Given the description of an element on the screen output the (x, y) to click on. 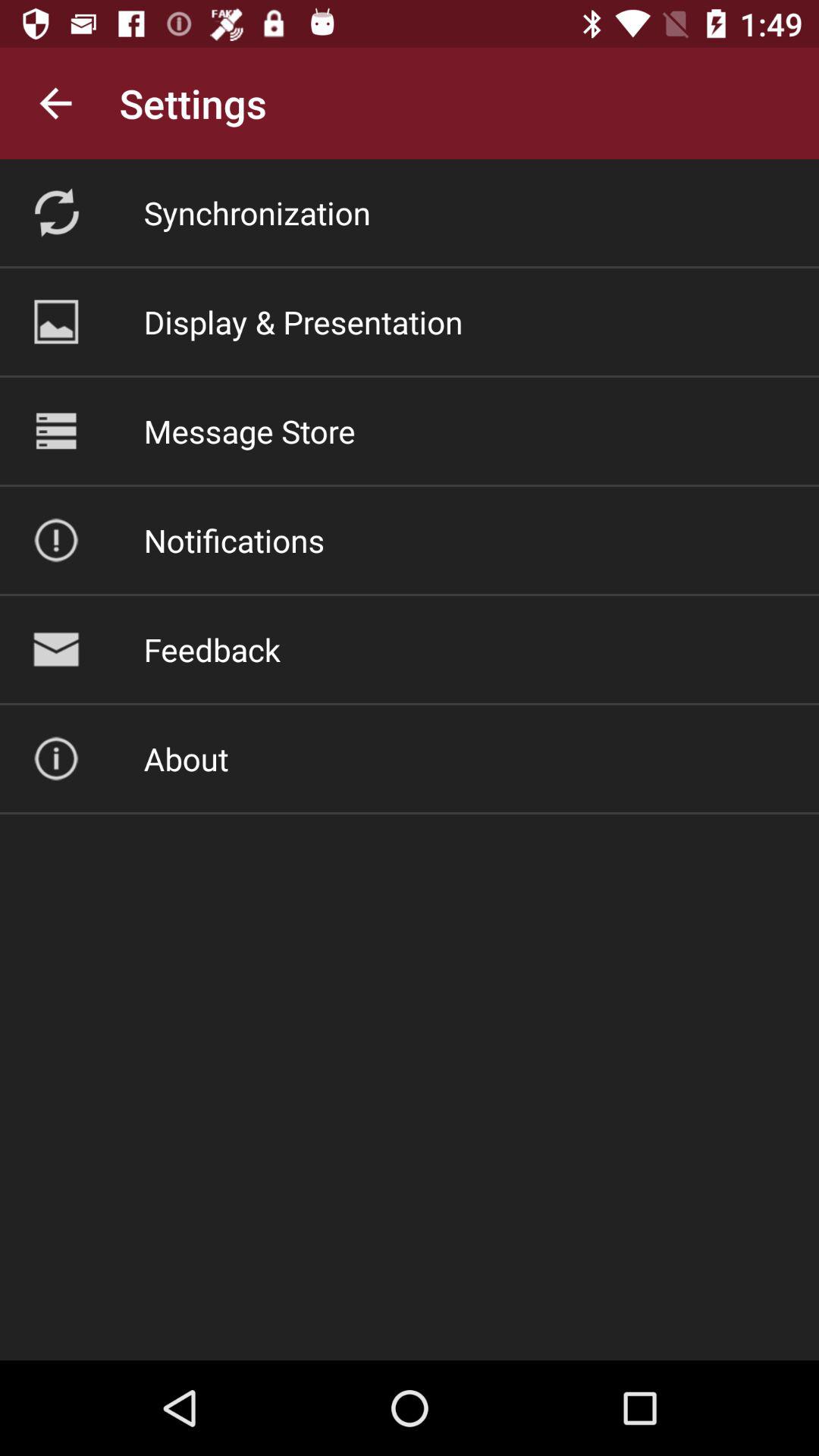
open display & presentation item (302, 321)
